Given the description of an element on the screen output the (x, y) to click on. 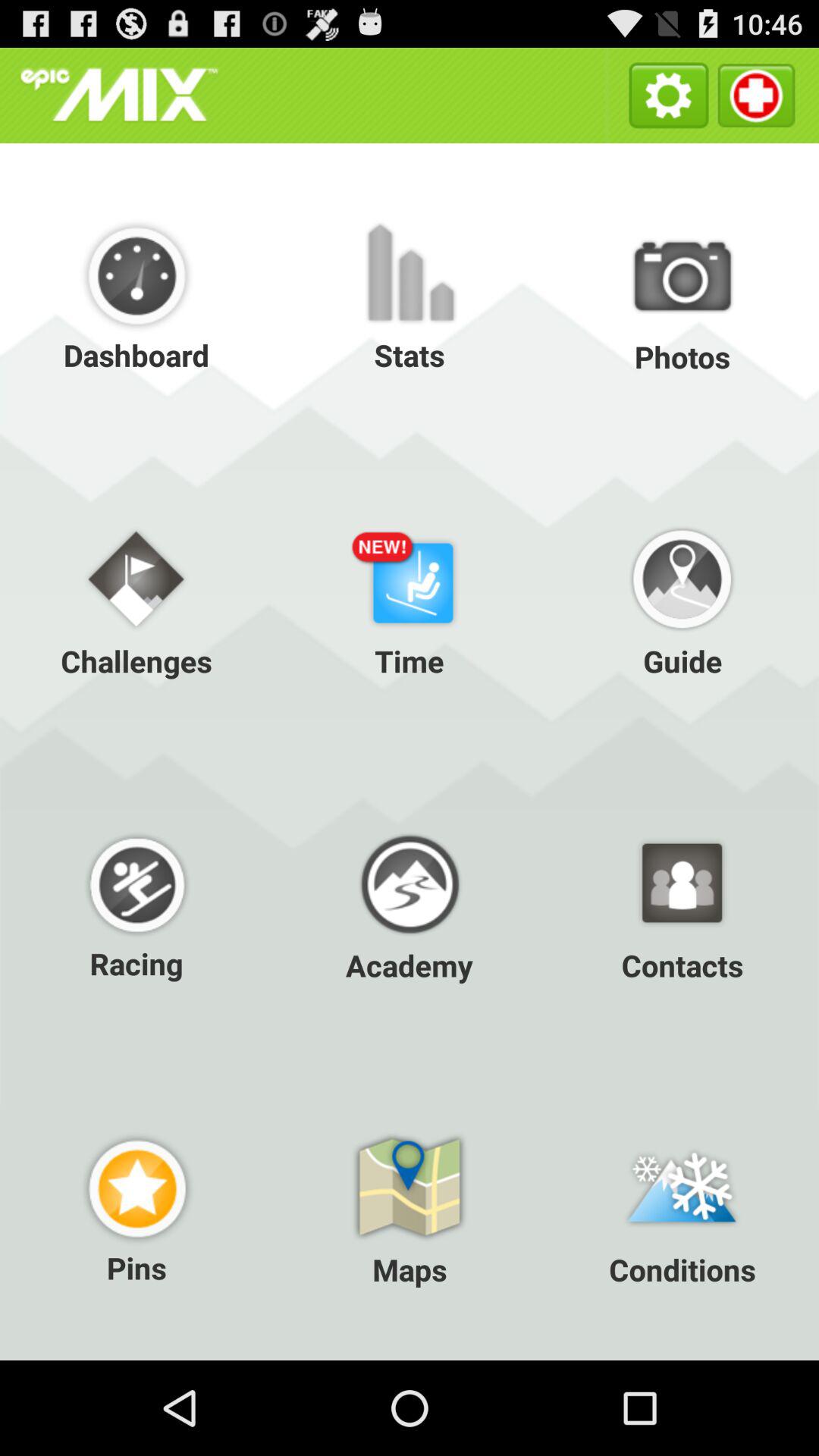
turn off item next to the stats button (682, 295)
